Given the description of an element on the screen output the (x, y) to click on. 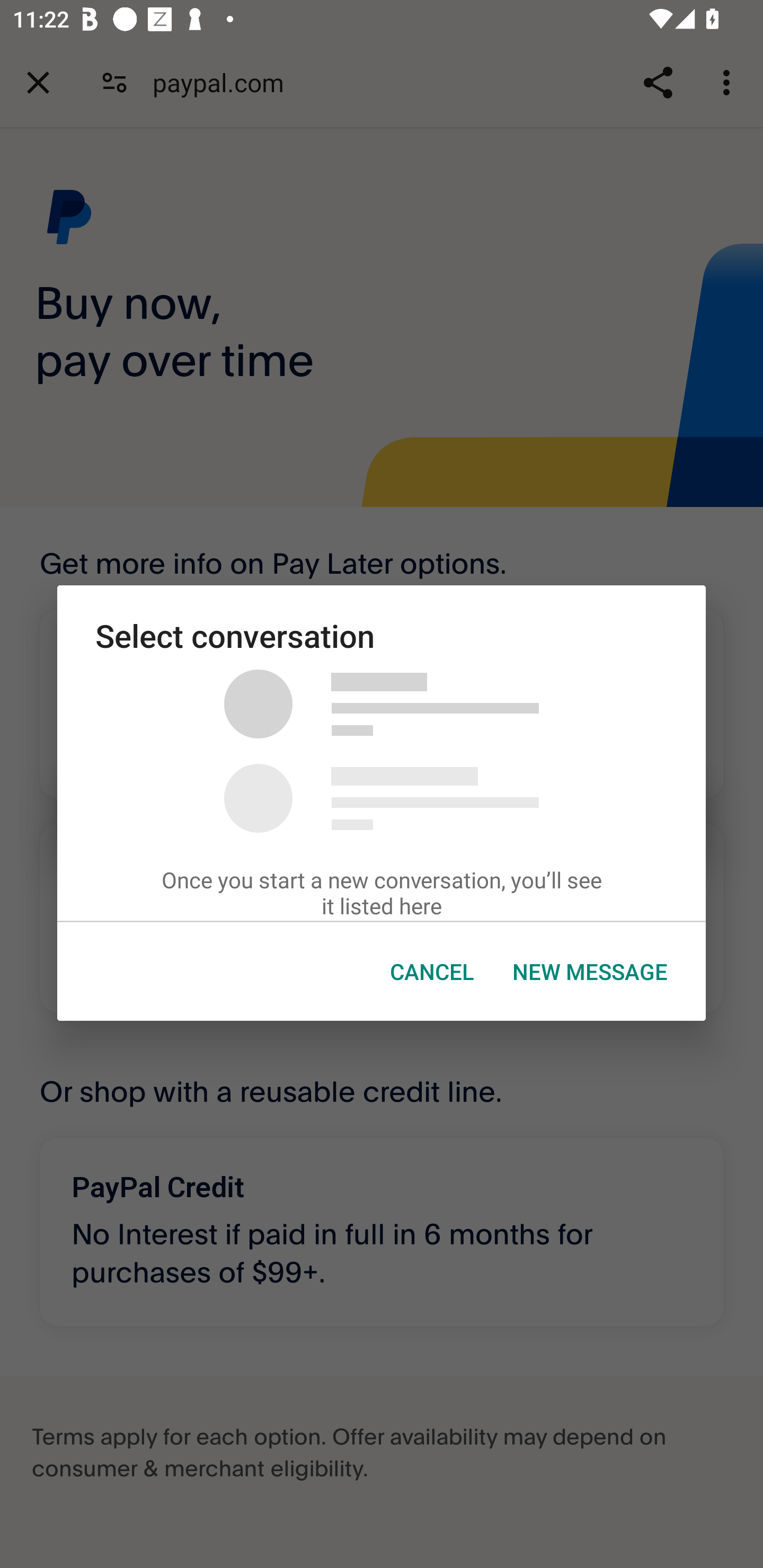
CANCEL (431, 971)
NEW MESSAGE (589, 971)
